Given the description of an element on the screen output the (x, y) to click on. 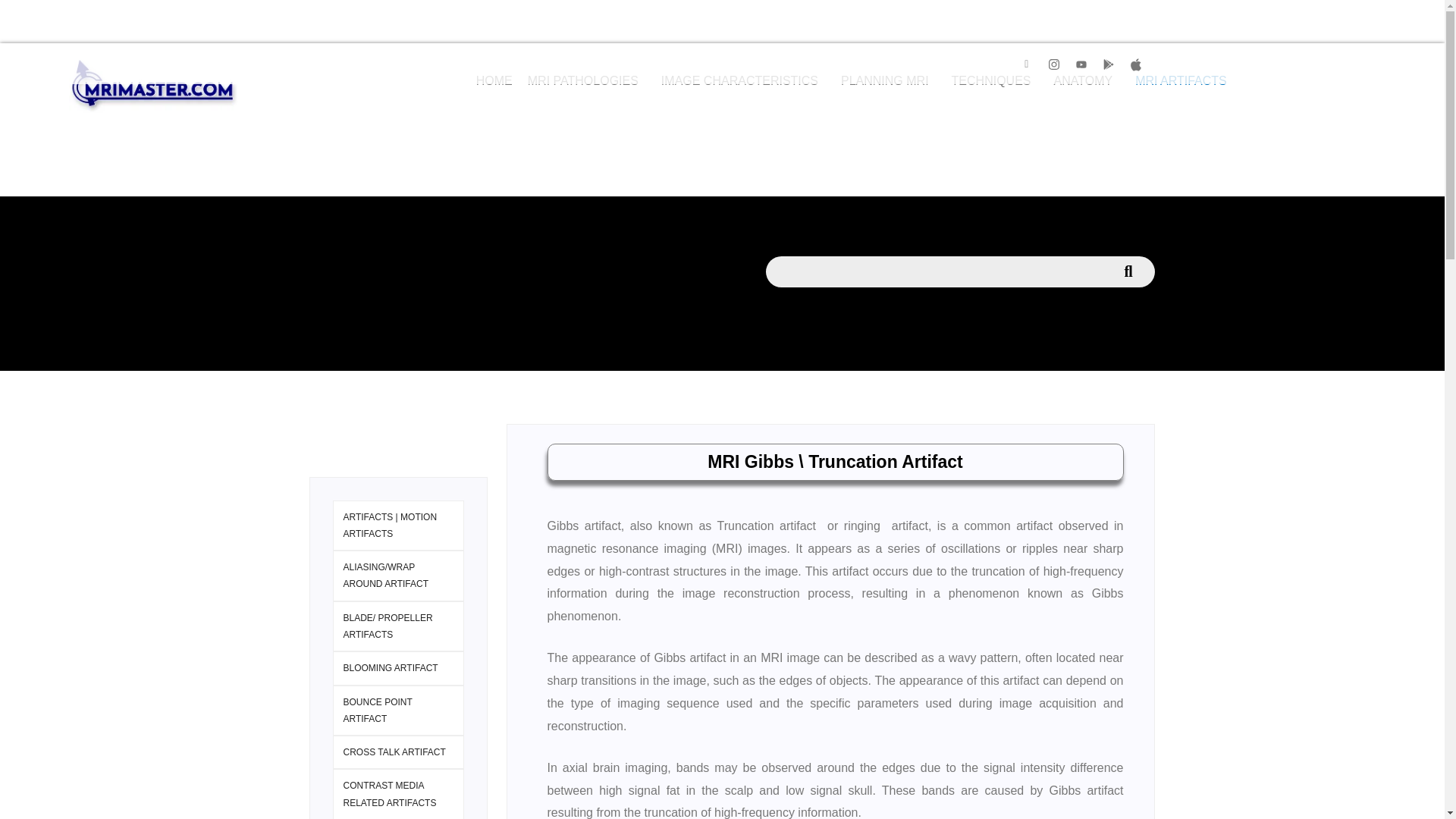
HOME (493, 80)
IMAGE CHARACTERISTICS (742, 80)
MRI PATHOLOGIES (586, 80)
Search (933, 271)
